Given the description of an element on the screen output the (x, y) to click on. 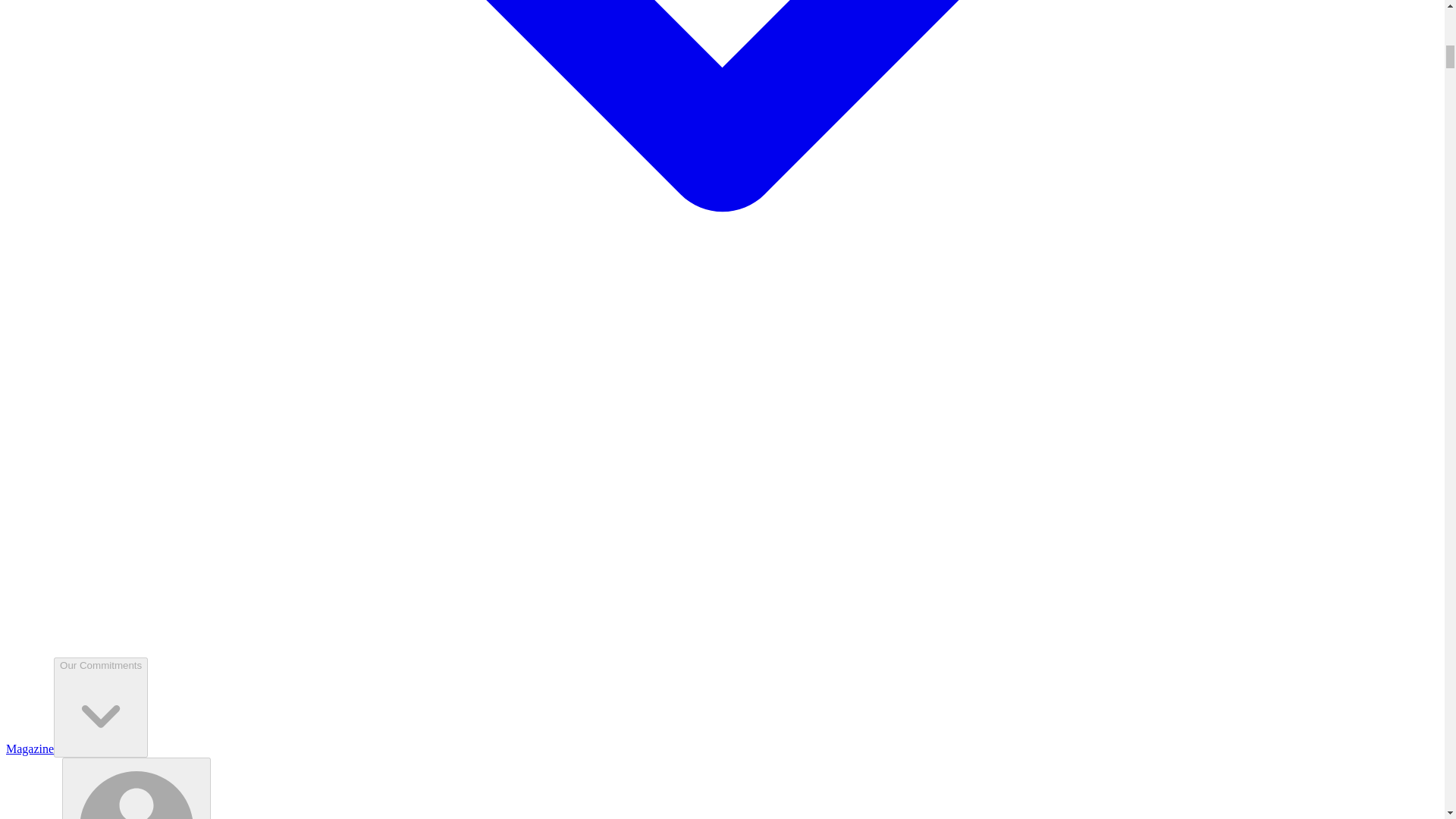
Magazine (29, 748)
Sign into my Evaneos Account (136, 788)
Our Commitments (100, 707)
